Given the description of an element on the screen output the (x, y) to click on. 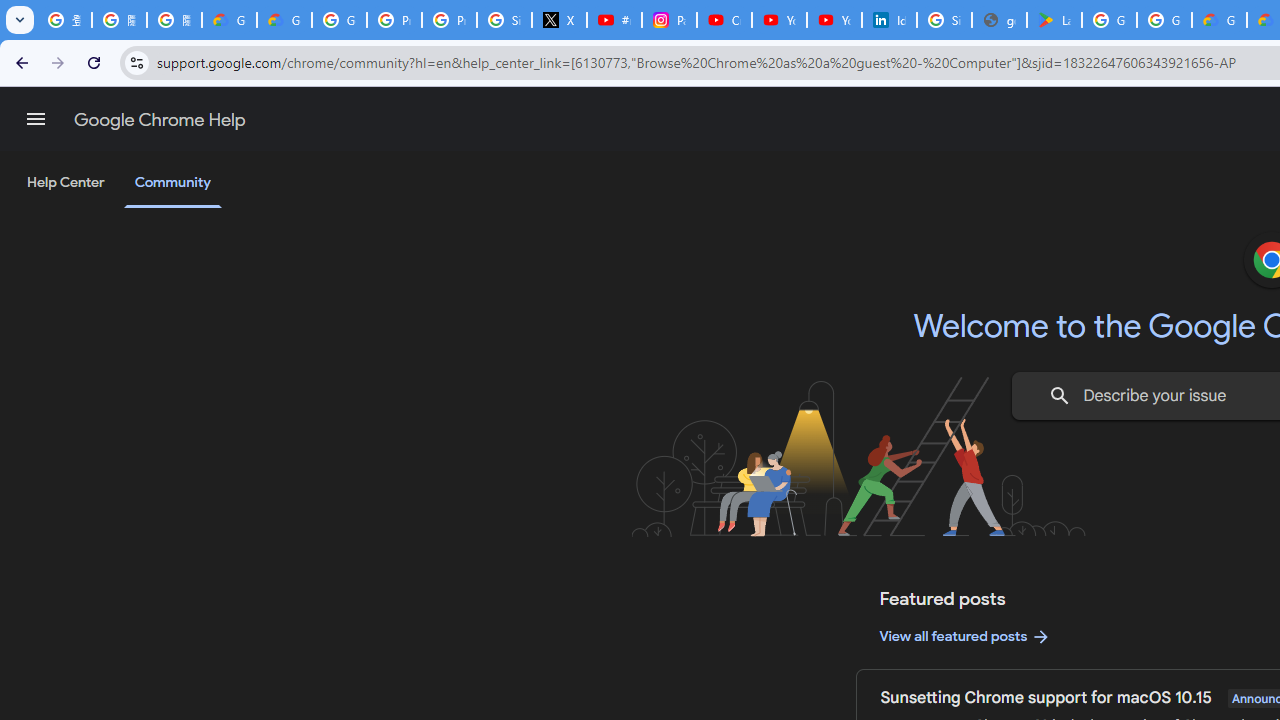
View all featured posts (965, 636)
